Given the description of an element on the screen output the (x, y) to click on. 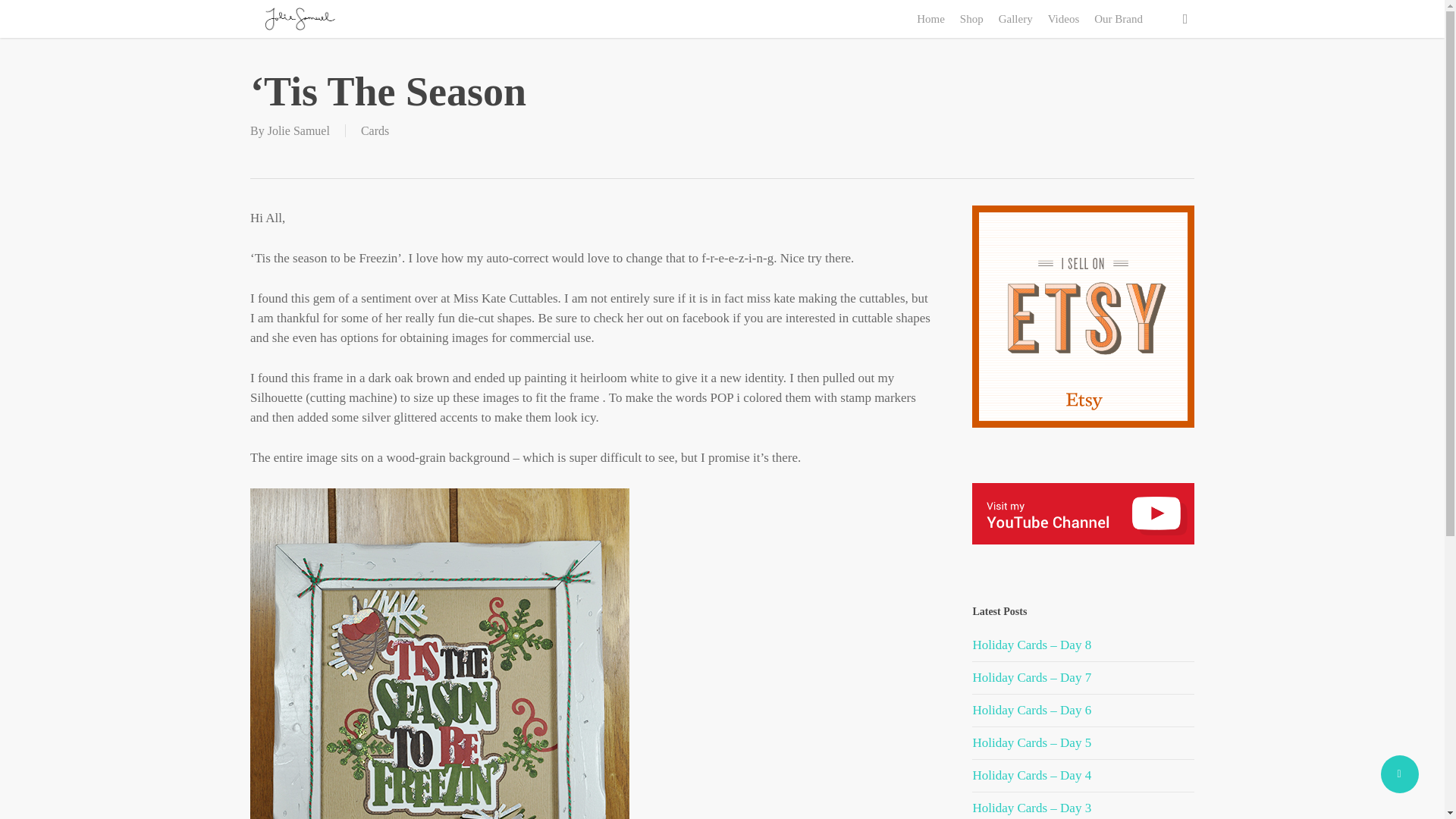
Posts by Jolie Samuel (298, 130)
Cards (374, 130)
Our Brand (1118, 19)
Gallery (1016, 19)
Home (930, 19)
Home (930, 19)
search (1184, 18)
Videos (1064, 19)
Our Brand (1118, 19)
Jolie Samuel (298, 130)
Shop (971, 19)
